Given the description of an element on the screen output the (x, y) to click on. 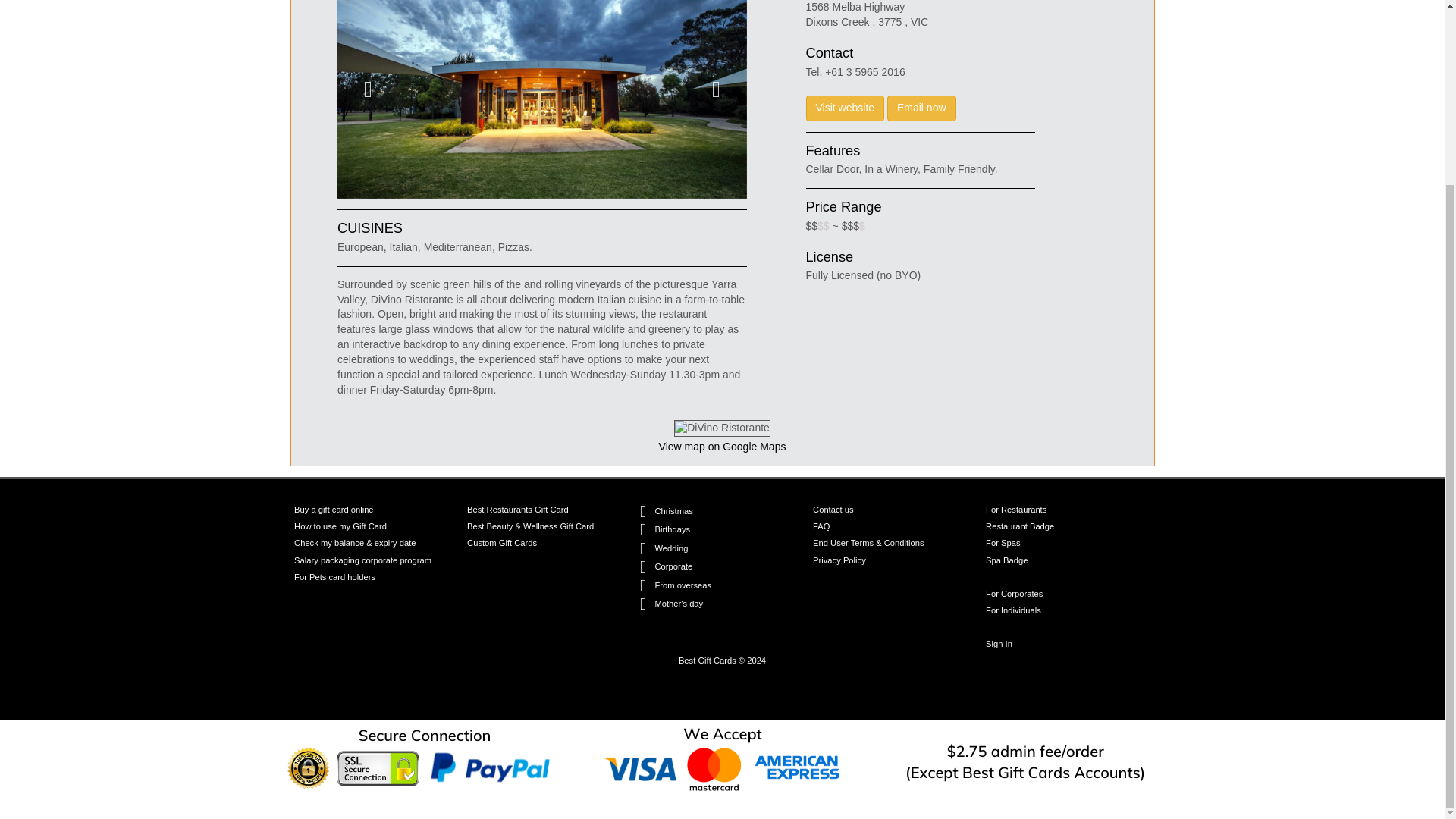
Privacy Policy (839, 560)
Contact us (832, 509)
How to use my Gift Card (340, 526)
Wedding (670, 548)
Birthdays (671, 529)
Follow us on Instagram (734, 702)
For Restaurants (1015, 509)
FAQ (820, 526)
Visit website (844, 108)
Corporate (673, 566)
View map on Google Maps (722, 446)
Email now (921, 108)
Mother's day (678, 603)
Best Restaurants Gift Card (518, 509)
From overseas (682, 585)
